Given the description of an element on the screen output the (x, y) to click on. 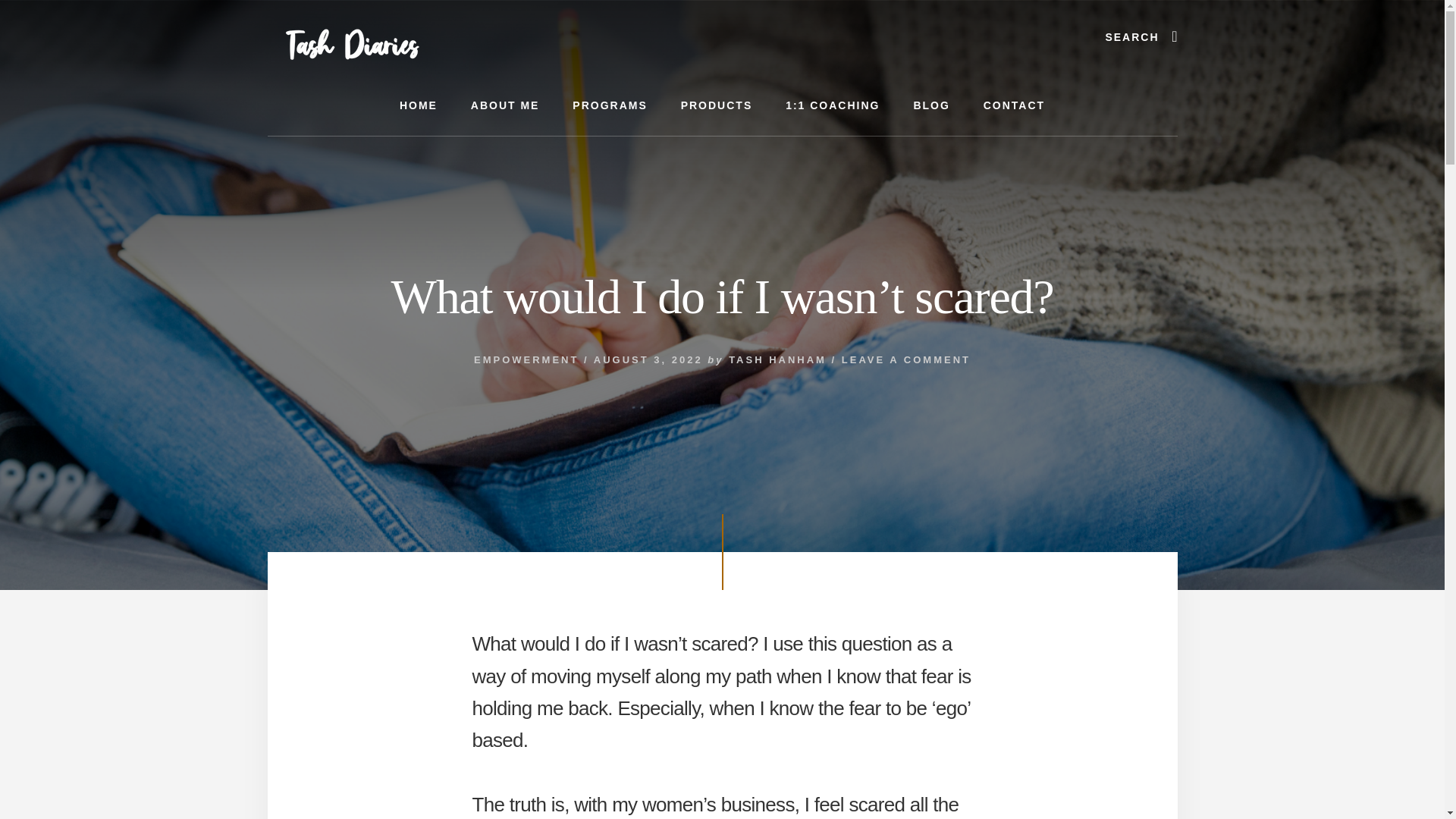
TASH HANHAM (778, 359)
EMPOWERMENT (526, 359)
PROGRAMS (609, 105)
LEAVE A COMMENT (906, 359)
PRODUCTS (716, 105)
HOME (418, 105)
ABOUT ME (504, 105)
